Given the description of an element on the screen output the (x, y) to click on. 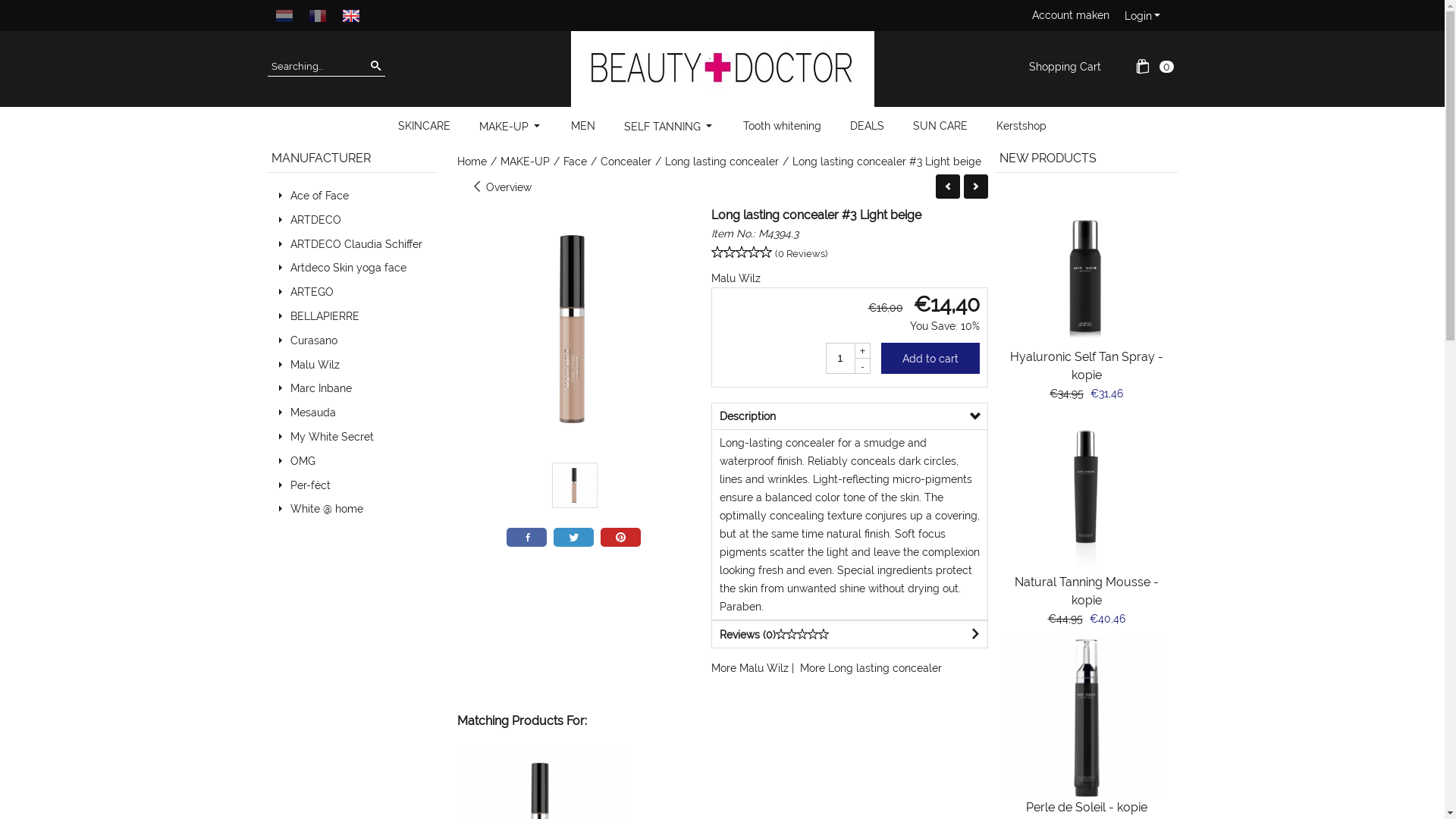
Marc inbane tanning mousse Element type: hover (1085, 492)
ARTDECO Element type: text (314, 219)
ARTEGO Element type: text (310, 291)
More Long lasting concealer Element type: text (870, 668)
0 Element type: text (1165, 66)
Mesauda Element type: text (312, 412)
Ace of Face Element type: text (318, 195)
Perle de Soleil marc inbane Element type: hover (1085, 717)
Hyaluronic Self Tan Spray - kopie Element type: text (1086, 365)
Back Element type: hover (947, 186)
Overview Element type: text (500, 187)
SUN CARE Element type: text (940, 125)
Long lasting concealer #3 Light beige Element type: text (885, 163)
Home Element type: text (471, 163)
Account maken Element type: text (1069, 15)
English Element type: hover (350, 15)
Concealer Element type: text (625, 163)
Curasano Element type: text (312, 340)
BELLAPIERRE Element type: text (323, 316)
Marc Inbane Element type: text (320, 388)
Kerstshop Element type: text (1021, 125)
More Malu Wilz Element type: text (749, 668)
Nederlands Element type: hover (283, 15)
Face Element type: text (574, 163)
Shopping Cart Element type: text (1064, 66)
MAKE-UP Element type: text (524, 163)
DEALS Element type: text (866, 125)
Tooth whitening Element type: text (781, 125)
MAKE-UP Element type: text (510, 125)
OMG Element type: text (301, 461)
Malu wilz long lasting concealer 3 light beige Element type: hover (574, 328)
Perle de Soleil - kopie Element type: text (1085, 807)
Malu wilz long lasting concealer 3 light beige Element type: hover (574, 485)
SELF TANNING Element type: text (668, 125)
Long lasting concealer Element type: text (721, 163)
My White Secret Element type: text (331, 436)
Next Element type: hover (975, 186)
White @ home Element type: text (325, 508)
MEN Element type: text (582, 125)
Natural Tanning Mousse - kopie Element type: text (1086, 590)
Artdeco Skin yoga face Element type: text (347, 267)
Marc Inbane Hyaluronic Self tanner Element type: hover (1085, 267)
Malu Wilz Element type: text (313, 364)
SKINCARE Element type: text (423, 125)
ARTDECO Claudia Schiffer Element type: text (355, 244)
Add to cart Element type: text (930, 357)
(0 Reviews) Element type: text (801, 252)
Login Element type: text (1142, 15)
Malu Wilz Element type: text (735, 278)
